Given the description of an element on the screen output the (x, y) to click on. 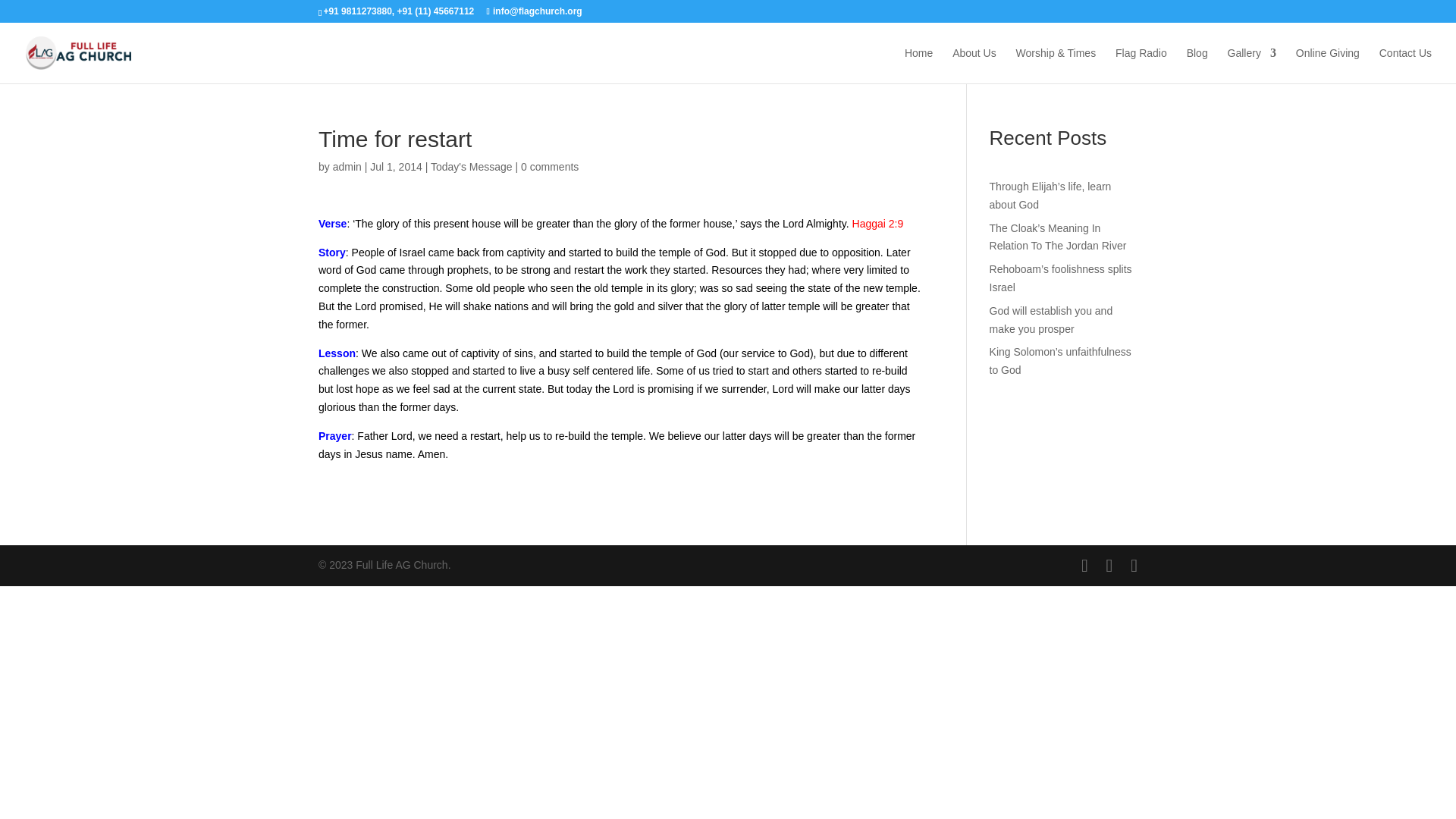
About Us (973, 65)
Contact Us (1404, 65)
Today's Message (471, 166)
God will establish you and make you prosper (1051, 319)
0 comments (549, 166)
Flag Radio (1141, 65)
Online Giving (1327, 65)
Gallery (1251, 65)
admin (347, 166)
Posts by admin (347, 166)
